Given the description of an element on the screen output the (x, y) to click on. 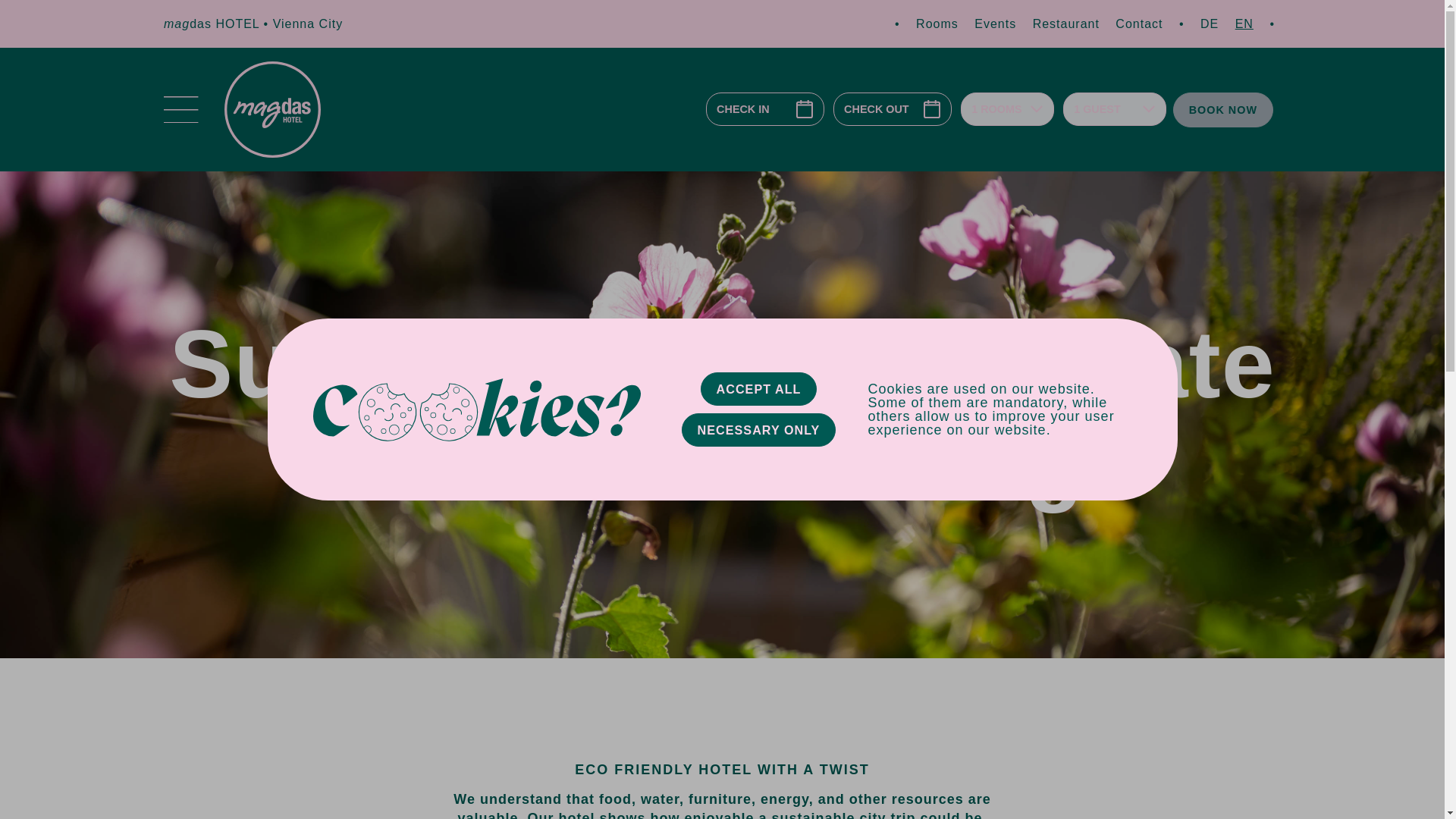
Rooms (936, 23)
Restaurant (1065, 23)
EN (1243, 23)
Contact (1138, 23)
NECESSARY ONLY (758, 429)
BOOK NOW (1222, 109)
DE (1208, 23)
Events (995, 23)
ACCEPT ALL (758, 388)
magdas HOTEL (213, 23)
